Given the description of an element on the screen output the (x, y) to click on. 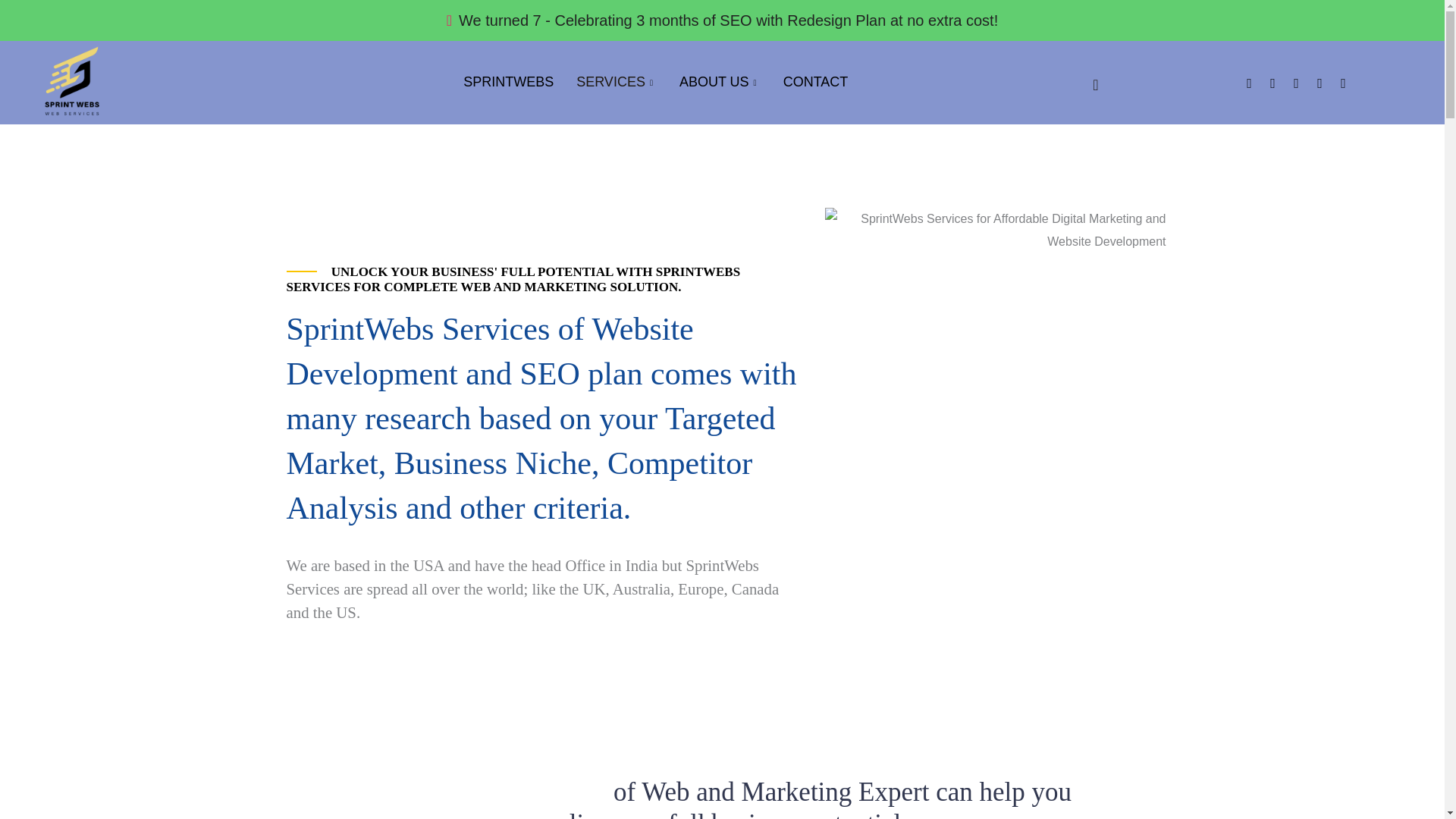
CONTACT (815, 82)
SERVICES (616, 82)
SPRINTWEBS (507, 82)
ABOUT US (719, 82)
